Given the description of an element on the screen output the (x, y) to click on. 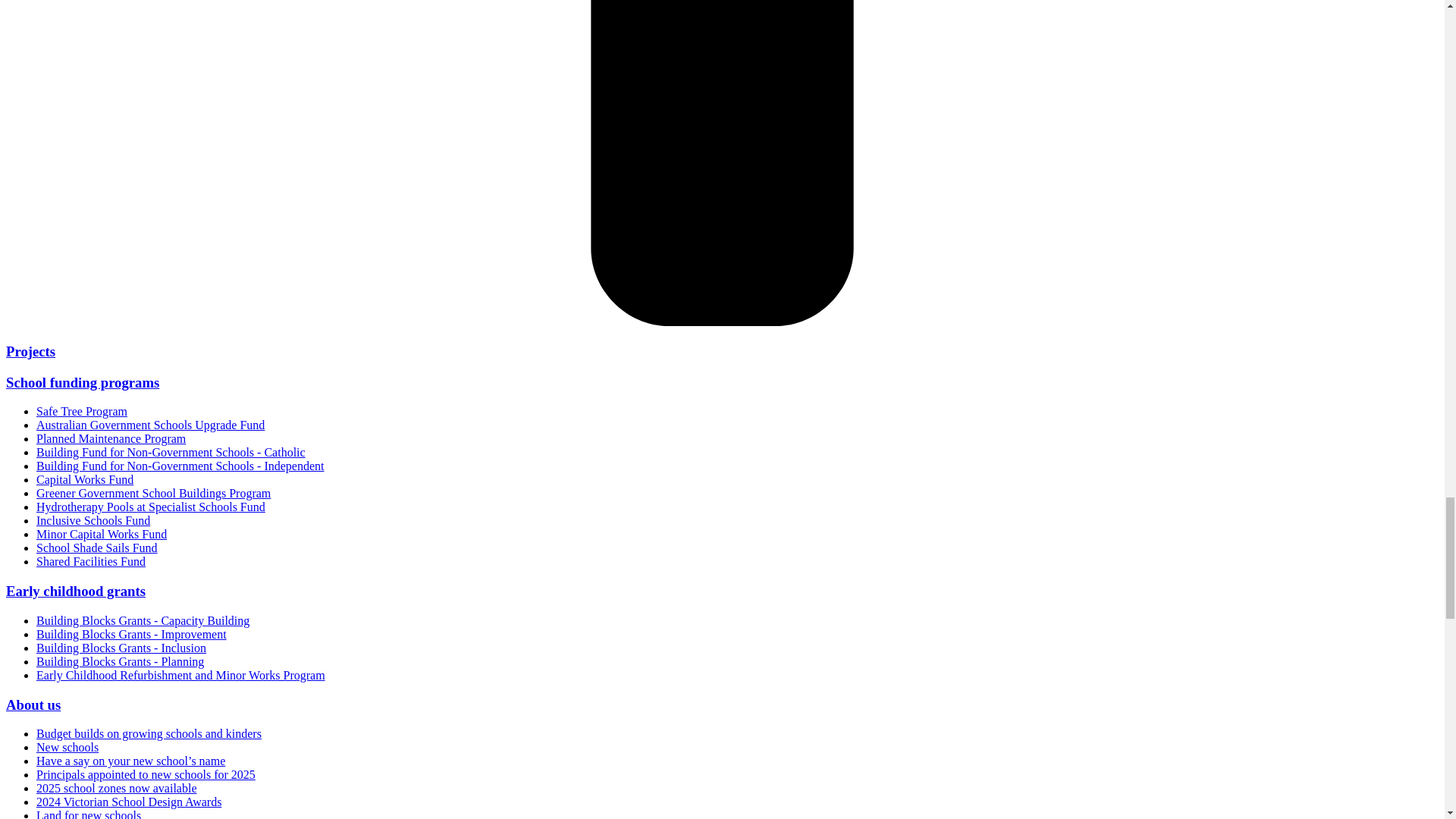
Budget builds on growing schools and kinders (149, 733)
Building Fund for Non-Government Schools - Independent (180, 465)
Early childhood grants (75, 590)
Safe Tree Program (82, 410)
School Shade Sails Fund (96, 547)
Building Blocks Grants - Inclusion (121, 647)
Australian Government Schools Upgrade Fund (150, 424)
Minor Capital Works Fund (101, 533)
School funding programs (81, 382)
Projects (30, 351)
About us (33, 704)
Greener Government School Buildings Program (153, 492)
Principals appointed to new schools for 2025 (146, 774)
Building Blocks Grants - Improvement (131, 634)
Building Blocks Grants - Capacity Building (142, 620)
